Given the description of an element on the screen output the (x, y) to click on. 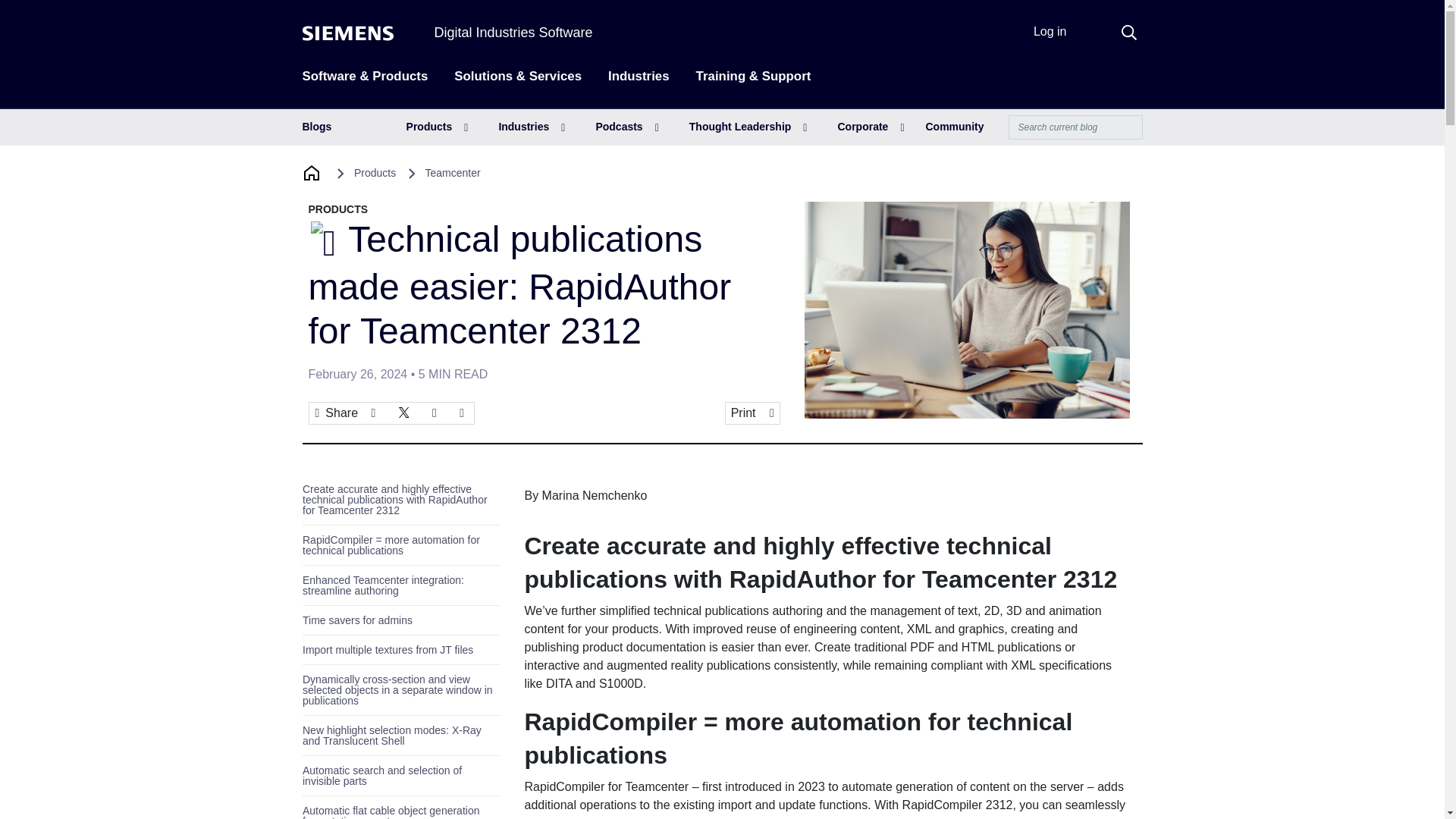
Products (437, 127)
Siemens (347, 32)
Log in (1050, 31)
Digital Industries Software (512, 32)
search (1128, 32)
